Given the description of an element on the screen output the (x, y) to click on. 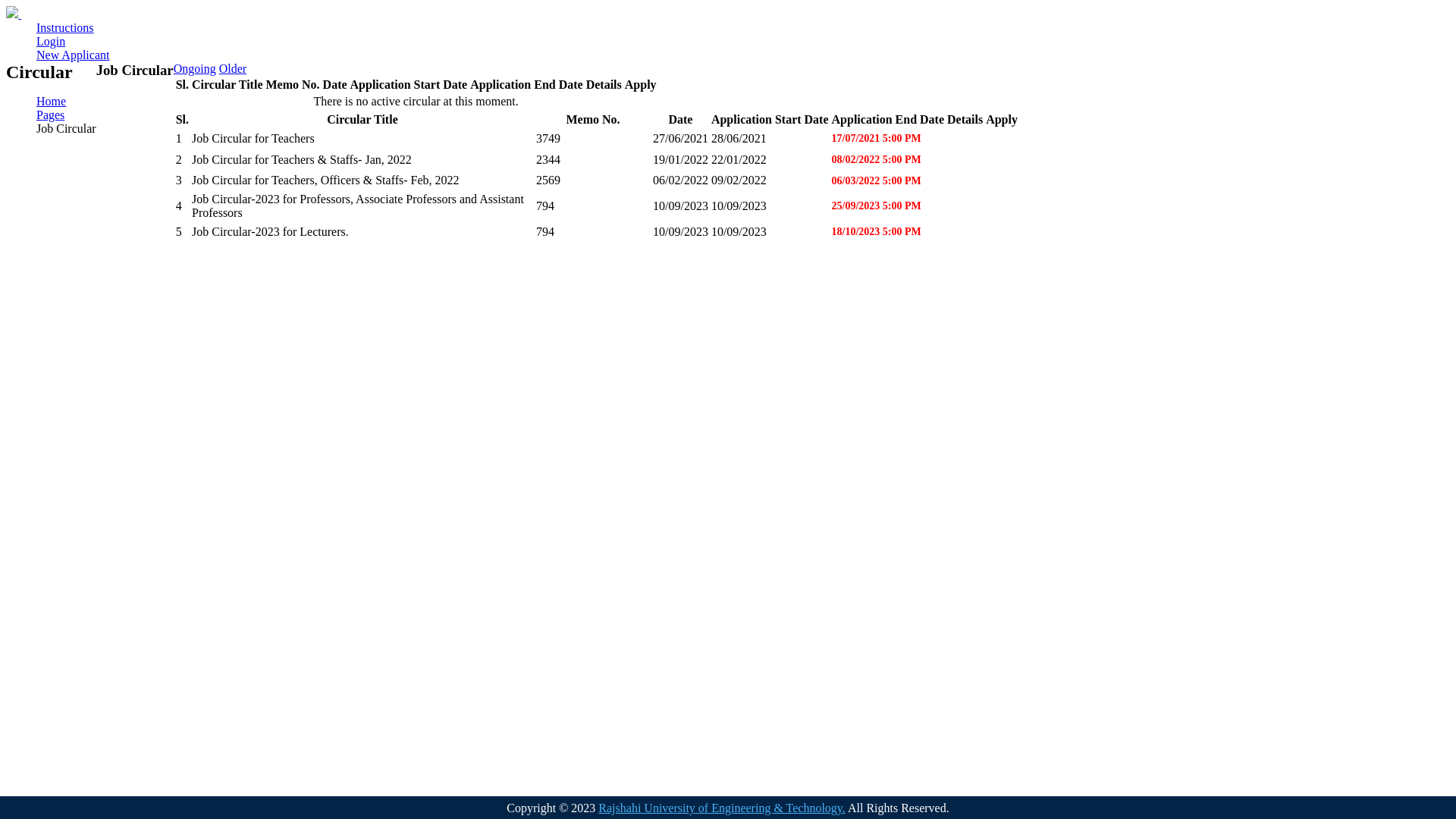
Pages Element type: text (50, 114)
Login Element type: text (50, 40)
Home Element type: text (50, 100)
Ongoing Element type: text (194, 68)
New Applicant Element type: text (72, 54)
Older Element type: text (232, 68)
Instructions Element type: text (65, 27)
Rajshahi University of Engineering & Technology. Element type: text (721, 807)
